Given the description of an element on the screen output the (x, y) to click on. 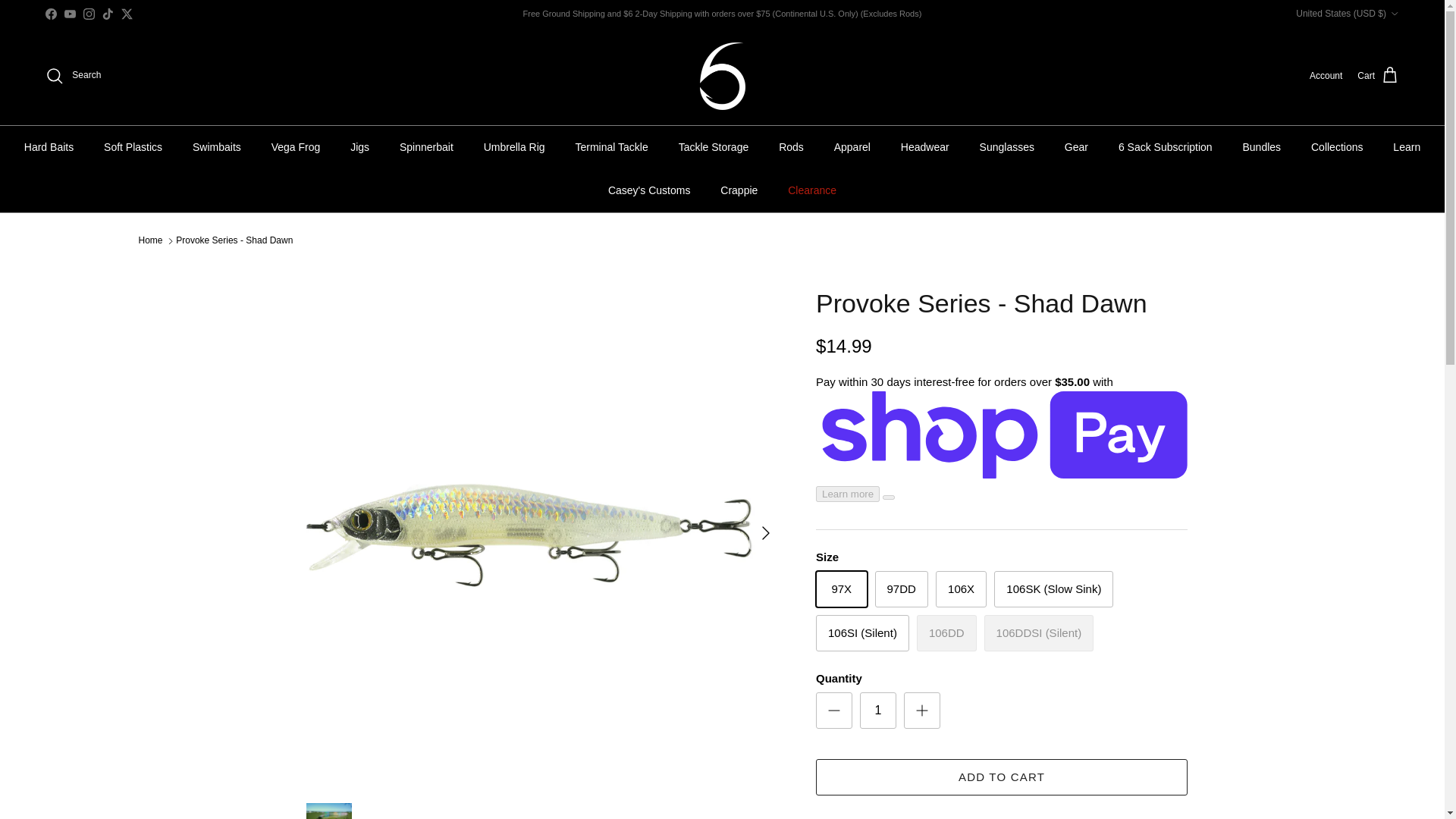
6th Sense Fishing on TikTok (107, 12)
Vega Frog (295, 147)
6th Sense Fishing on Instagram (88, 12)
6th Sense Fishing on Facebook (50, 12)
Hard Baits (48, 147)
1 (878, 710)
Twitter (126, 12)
Swimbaits (216, 147)
Instagram (88, 12)
Account (1325, 75)
